Given the description of an element on the screen output the (x, y) to click on. 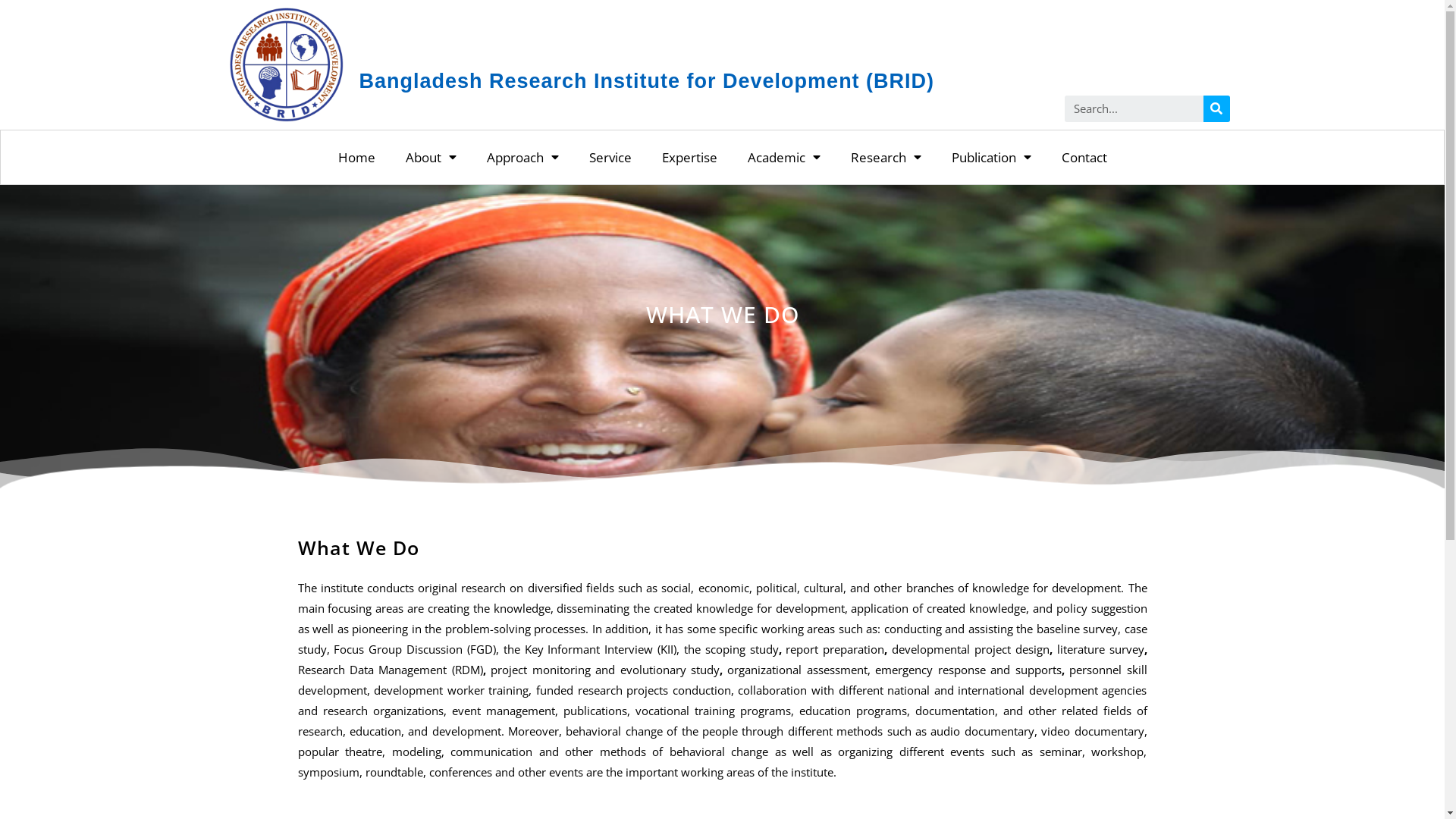
About Element type: text (429, 157)
Service Element type: text (609, 157)
Contact Element type: text (1084, 157)
Research Element type: text (885, 157)
Expertise Element type: text (688, 157)
Home Element type: text (356, 157)
Search Element type: hover (1216, 108)
Publication Element type: text (990, 157)
Approach Element type: text (522, 157)
Search Element type: hover (1133, 108)
Academic Element type: text (783, 157)
